Given the description of an element on the screen output the (x, y) to click on. 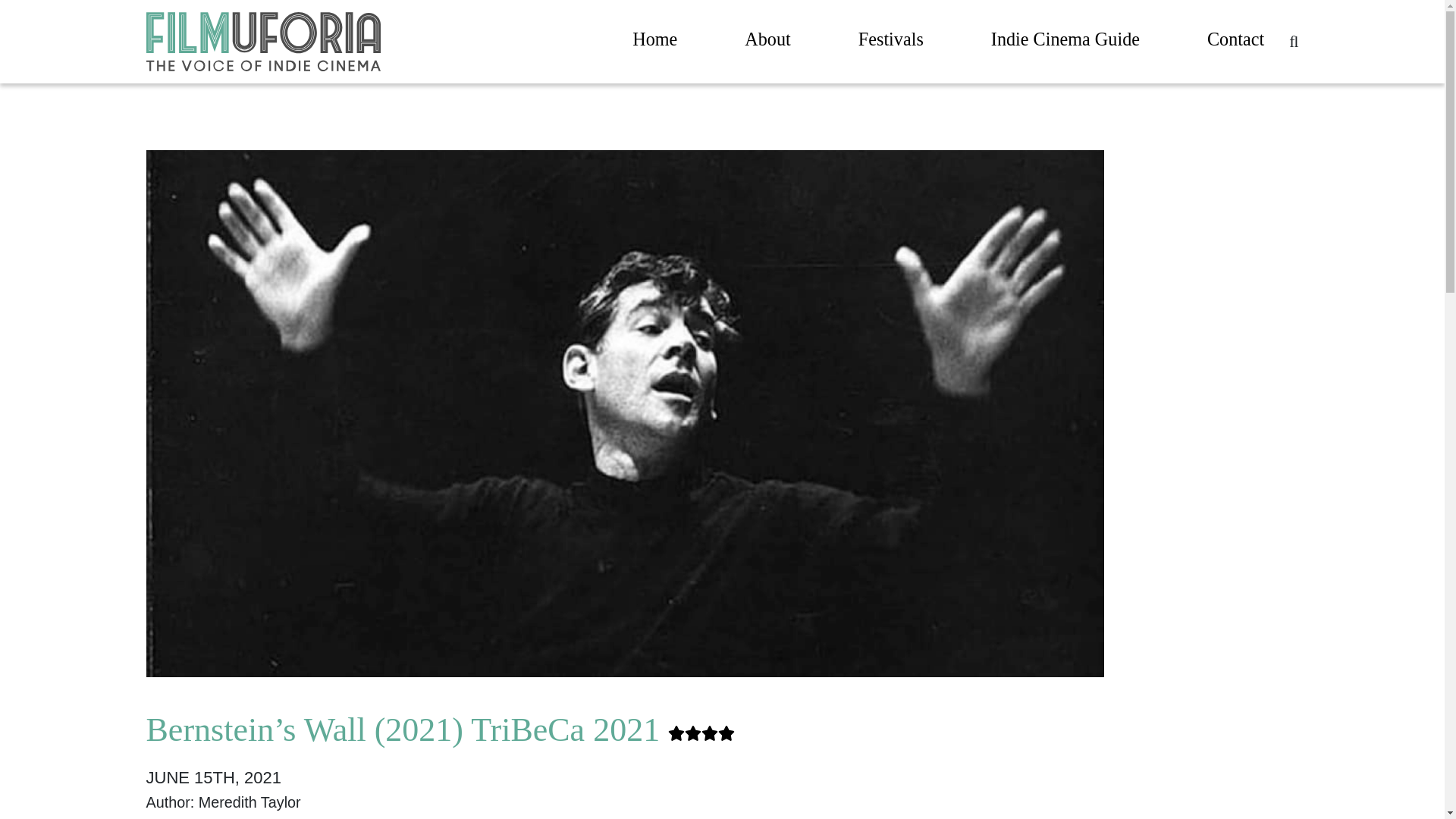
About (767, 42)
Contact (1235, 42)
Indie Cinema Guide (1065, 42)
Home (654, 42)
Festivals (891, 42)
